Given the description of an element on the screen output the (x, y) to click on. 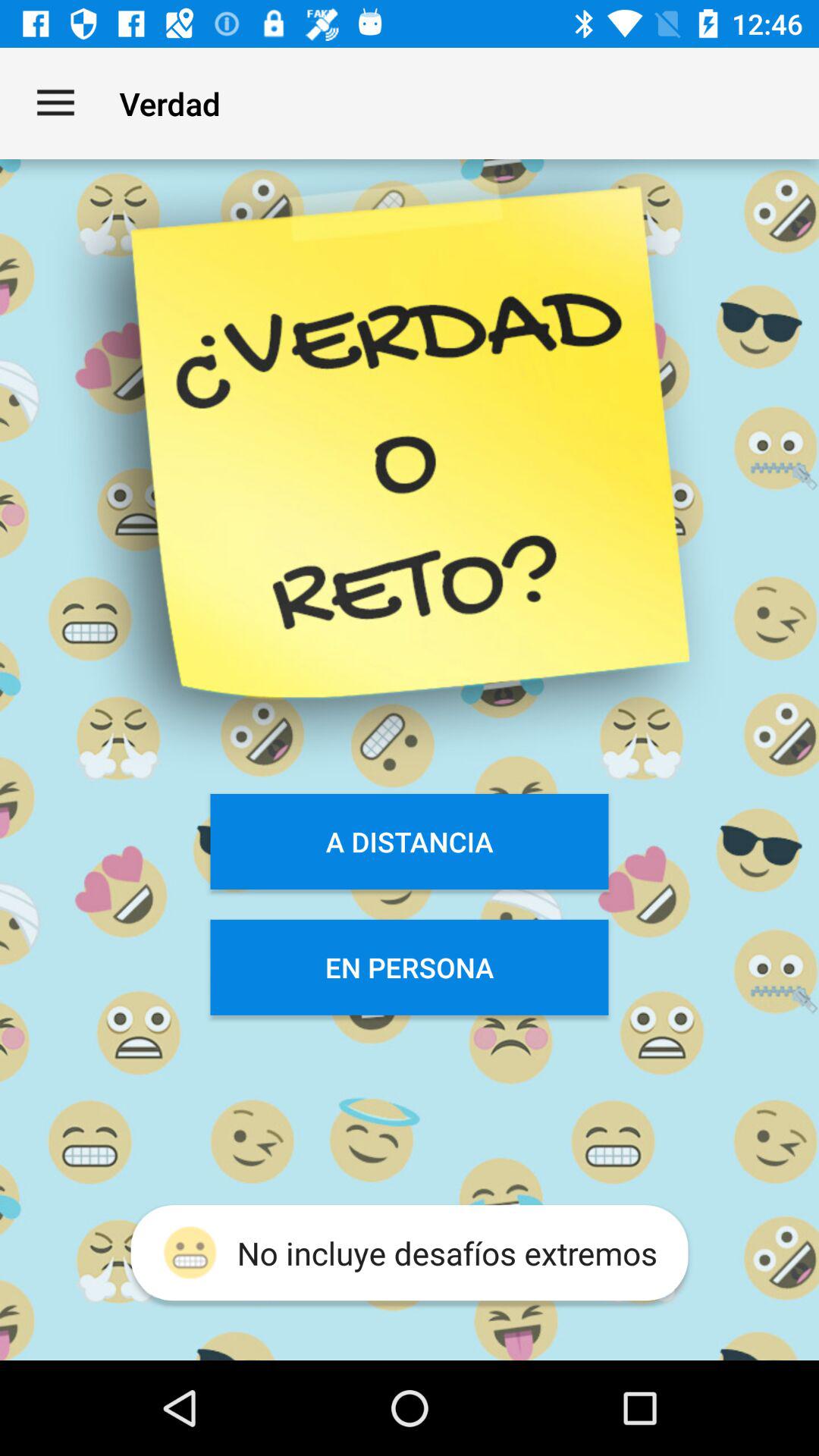
click icon above the en persona icon (409, 841)
